Given the description of an element on the screen output the (x, y) to click on. 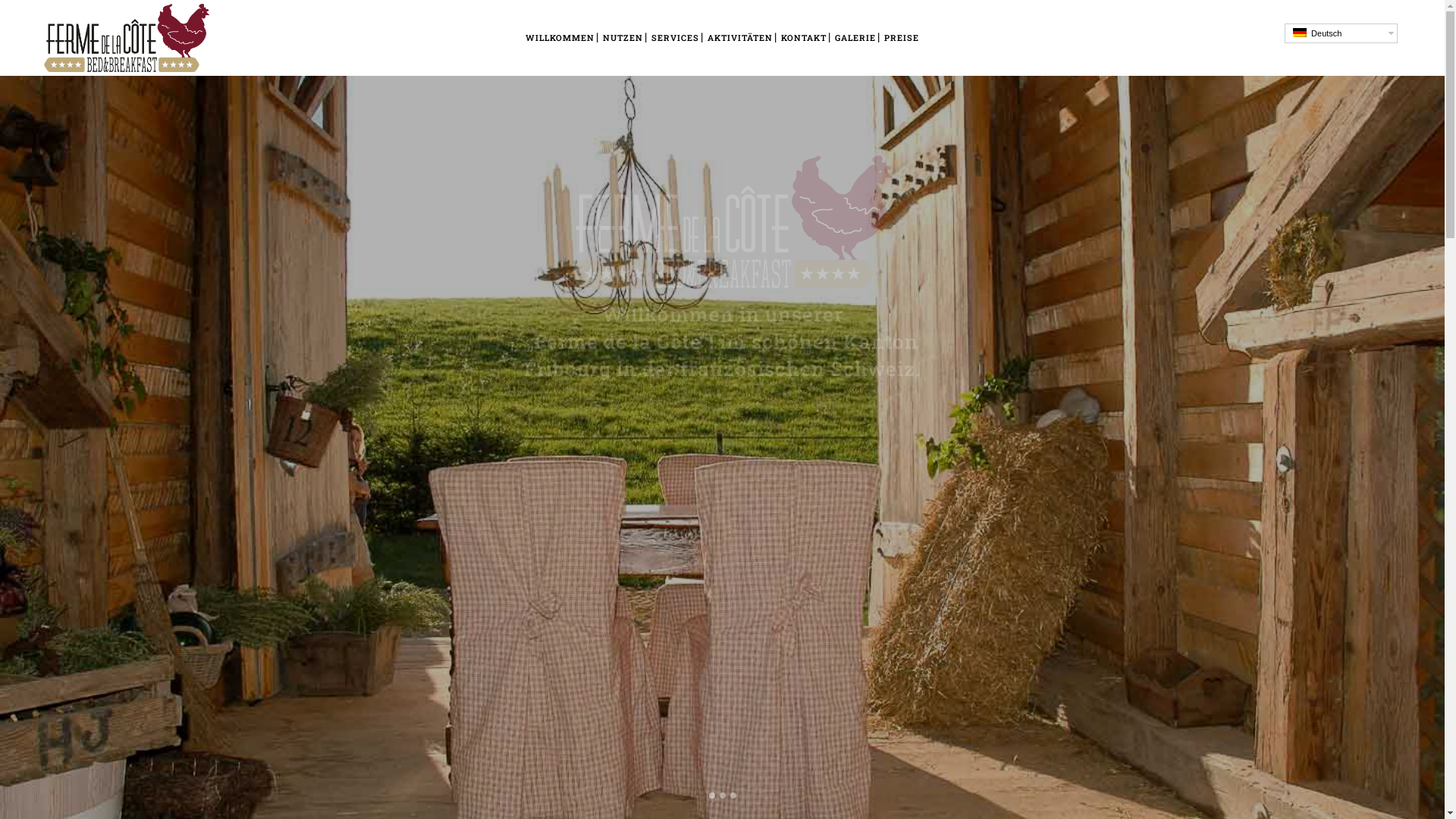
Deutsch Element type: hover (1299, 31)
KONTAKT Element type: text (803, 37)
GALERIE Element type: text (854, 37)
NUTZEN Element type: text (622, 37)
WILLKOMMEN Element type: text (559, 37)
SERVICES Element type: text (675, 37)
PREISE Element type: text (901, 37)
 Deutsch Element type: text (1340, 32)
